Given the description of an element on the screen output the (x, y) to click on. 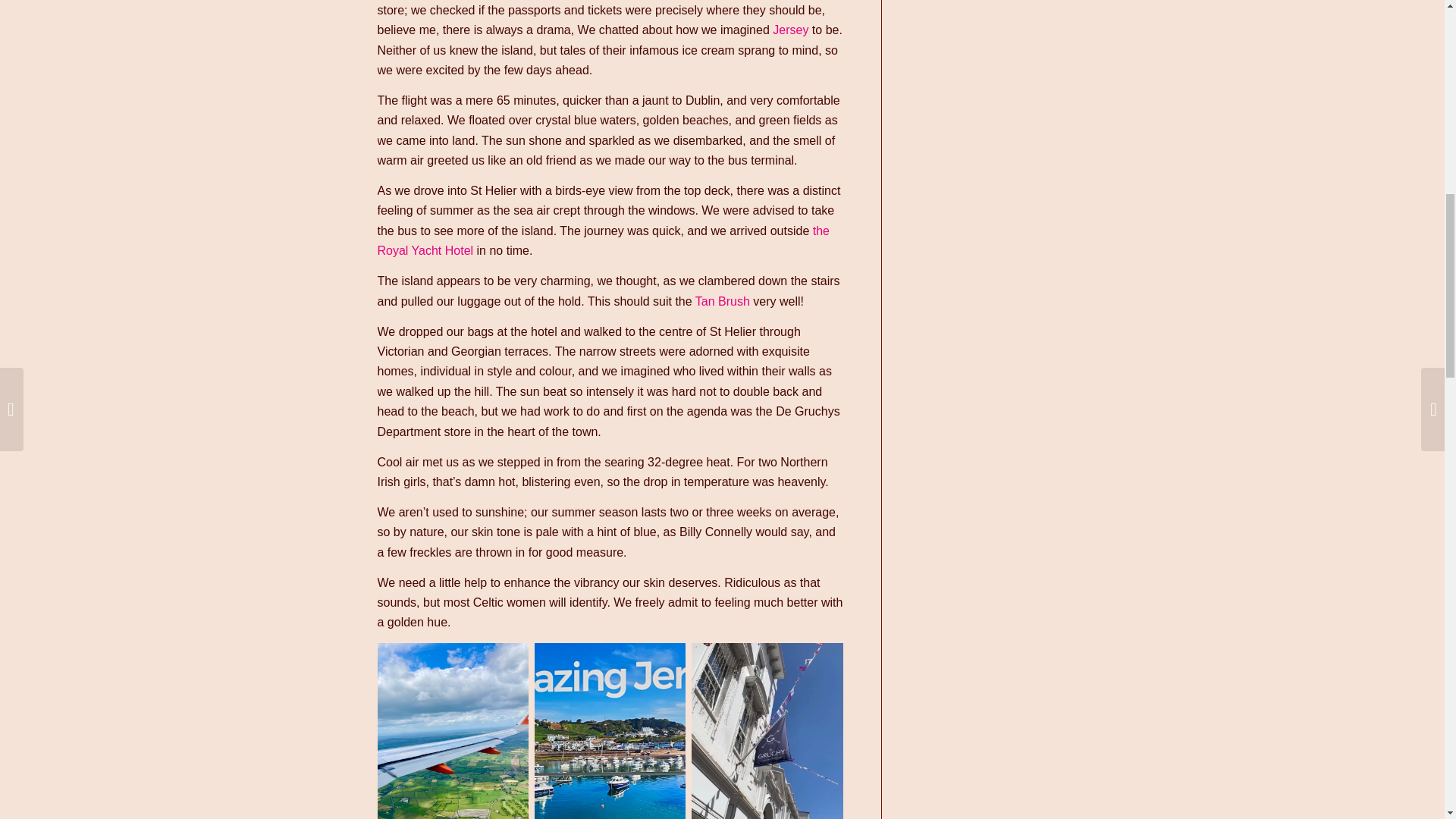
the Royal Yacht Hotel (603, 240)
Jersey (790, 29)
Tan Brush (722, 300)
